Given the description of an element on the screen output the (x, y) to click on. 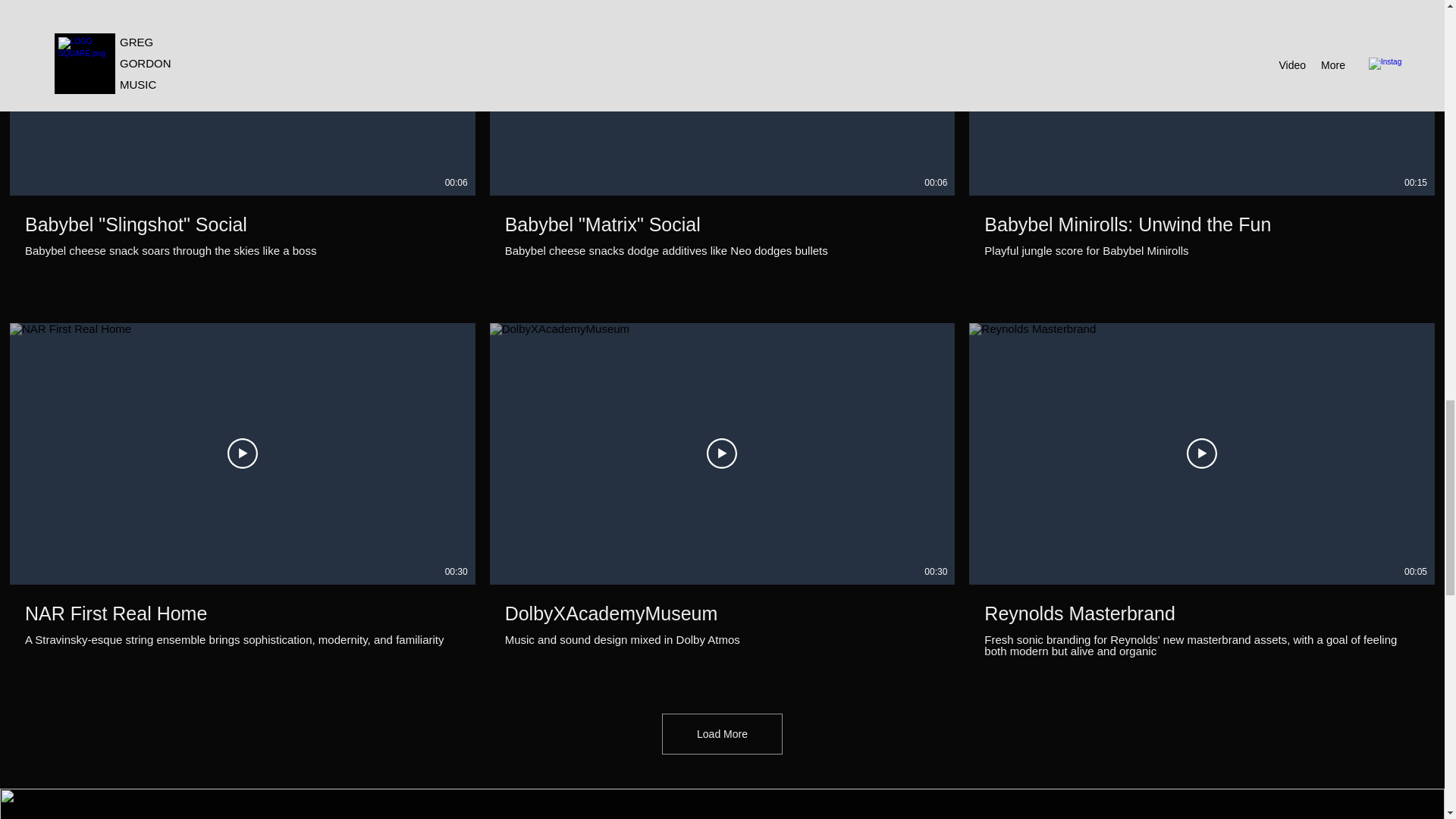
Babybel "Matrix" Social (722, 224)
NAR First Real Home (242, 613)
Load More (722, 733)
Reynolds Masterbrand (1201, 613)
Babybel Minirolls: Unwind the Fun (1201, 224)
DolbyXAcademyMuseum (722, 613)
Babybel "Slingshot" Social (242, 224)
